Given the description of an element on the screen output the (x, y) to click on. 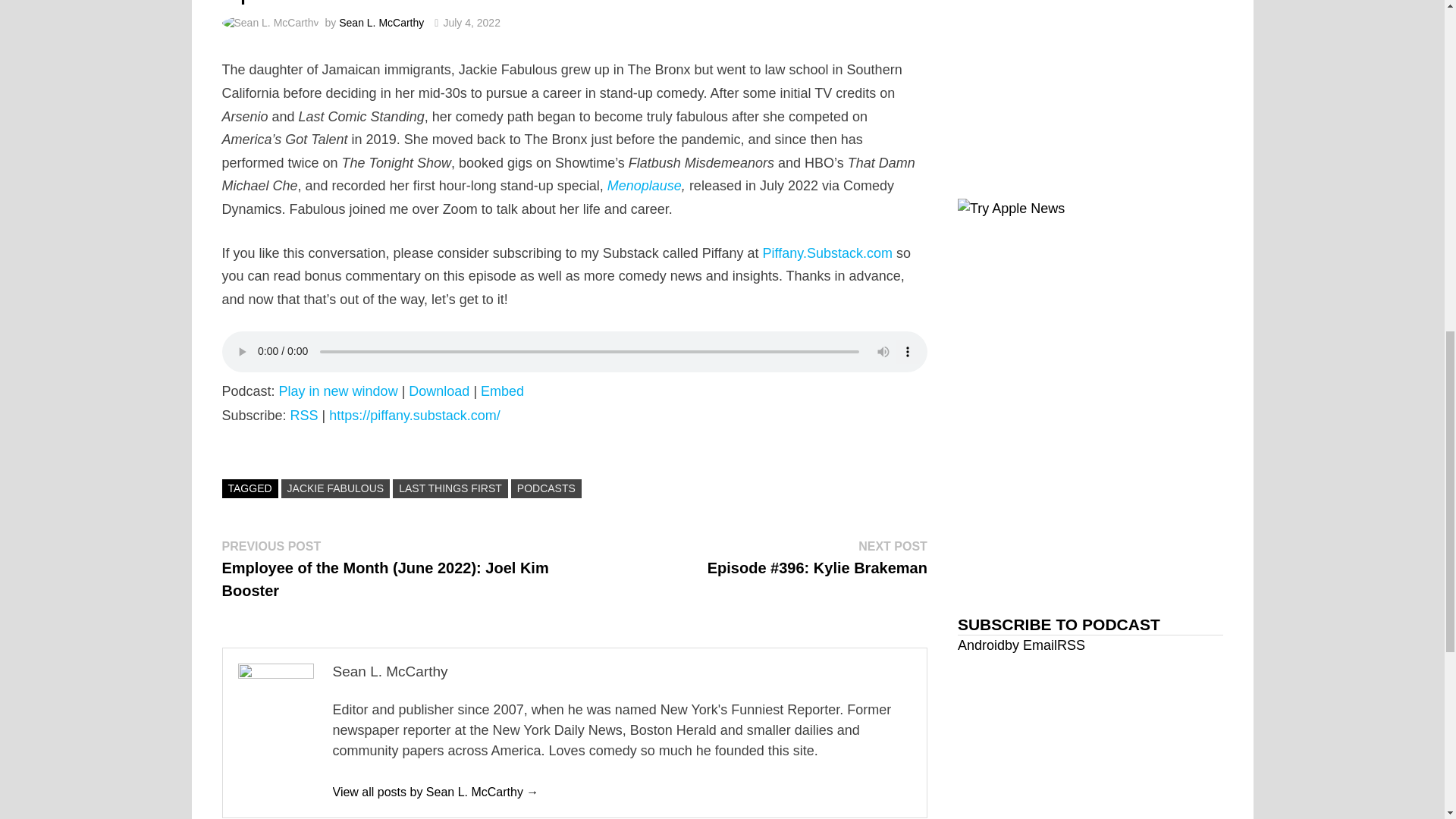
Download (438, 391)
Play in new window (338, 391)
Subscribe via RSS (303, 415)
Embed (502, 391)
Play in new window (338, 391)
Download (438, 391)
Subscribe on Android (981, 645)
Sean L. McCarthy (381, 22)
JACKIE FABULOUS (335, 488)
RSS (303, 415)
